Given the description of an element on the screen output the (x, y) to click on. 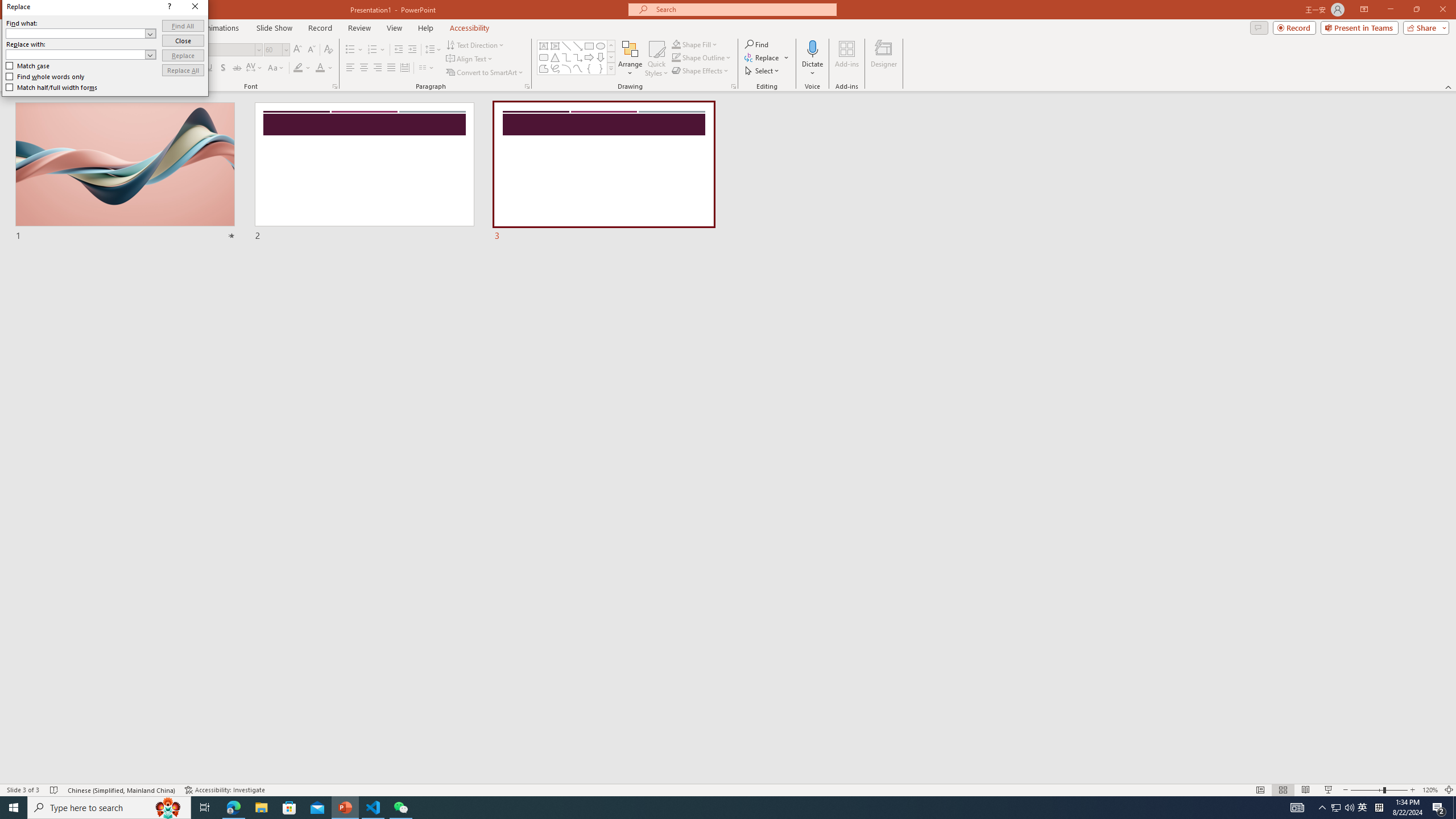
Align Text (470, 58)
